Given the description of an element on the screen output the (x, y) to click on. 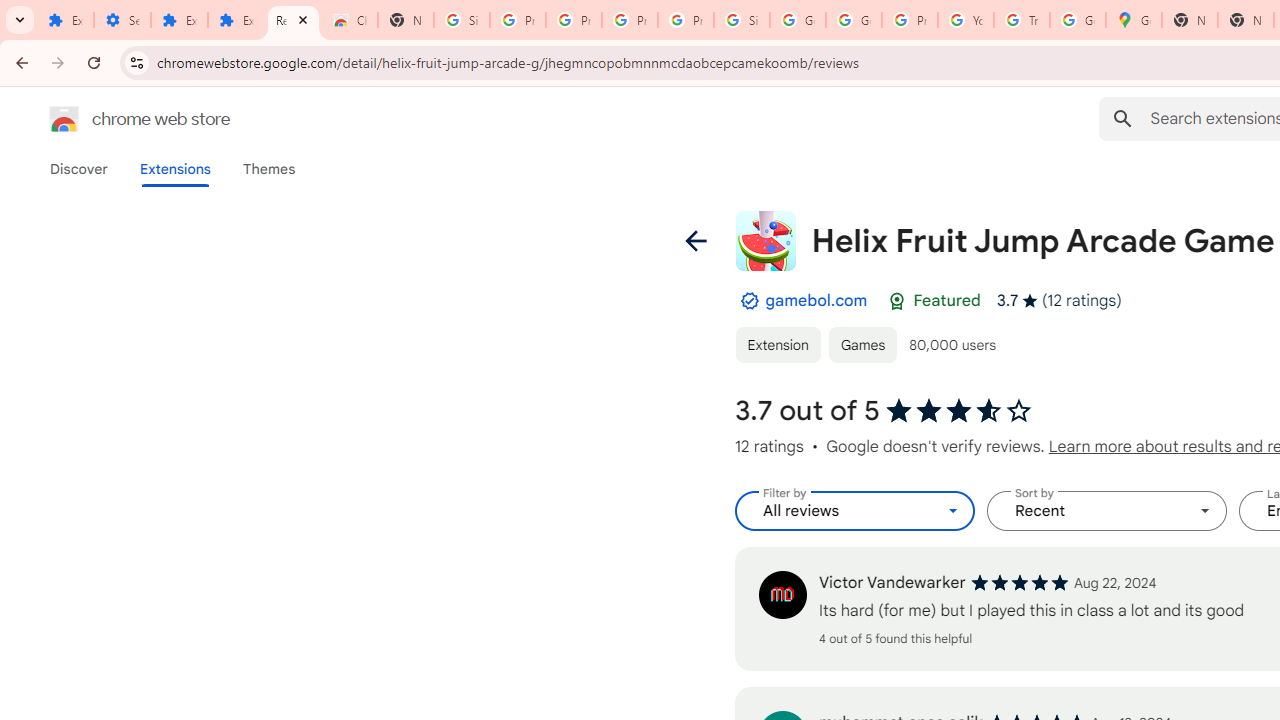
Discover (79, 169)
Chrome Web Store - Themes (349, 20)
New Tab (1190, 20)
Sign in - Google Accounts (461, 20)
3.7 out of 5 stars (959, 411)
Filter by All reviews (854, 511)
Featured Badge (897, 301)
Google Maps (1133, 20)
